Given the description of an element on the screen output the (x, y) to click on. 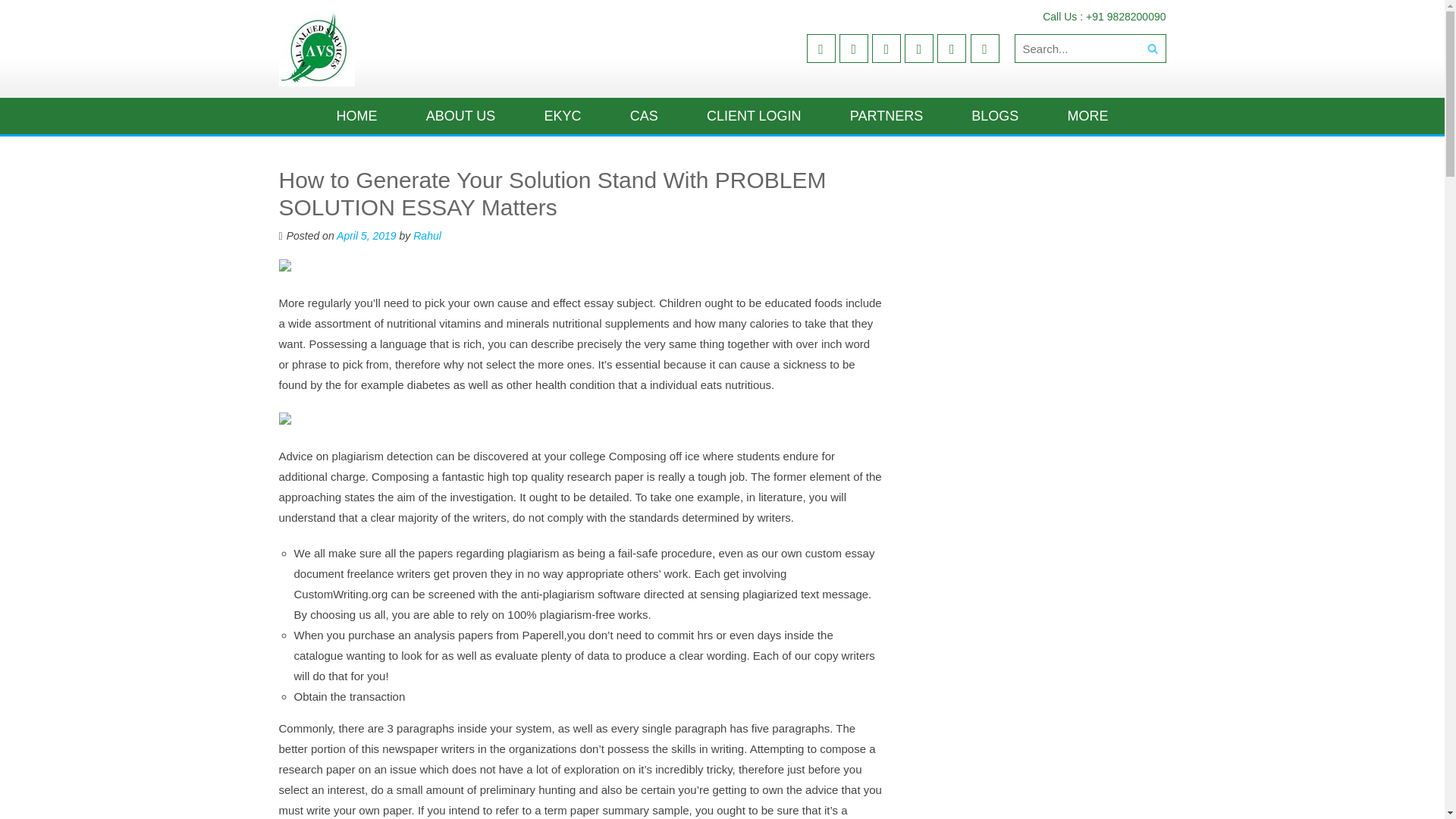
Search (1150, 48)
Search (1150, 48)
HOME (355, 115)
ABOUT US (460, 115)
BLOGS (995, 115)
CLIENT LOGIN (754, 115)
PARTNERS (885, 115)
Facebook (820, 48)
Twitter (853, 48)
EKYC (563, 115)
Google Plus (886, 48)
Linkedin (951, 48)
Search (1150, 48)
Rahul (427, 235)
CAS (643, 115)
